Given the description of an element on the screen output the (x, y) to click on. 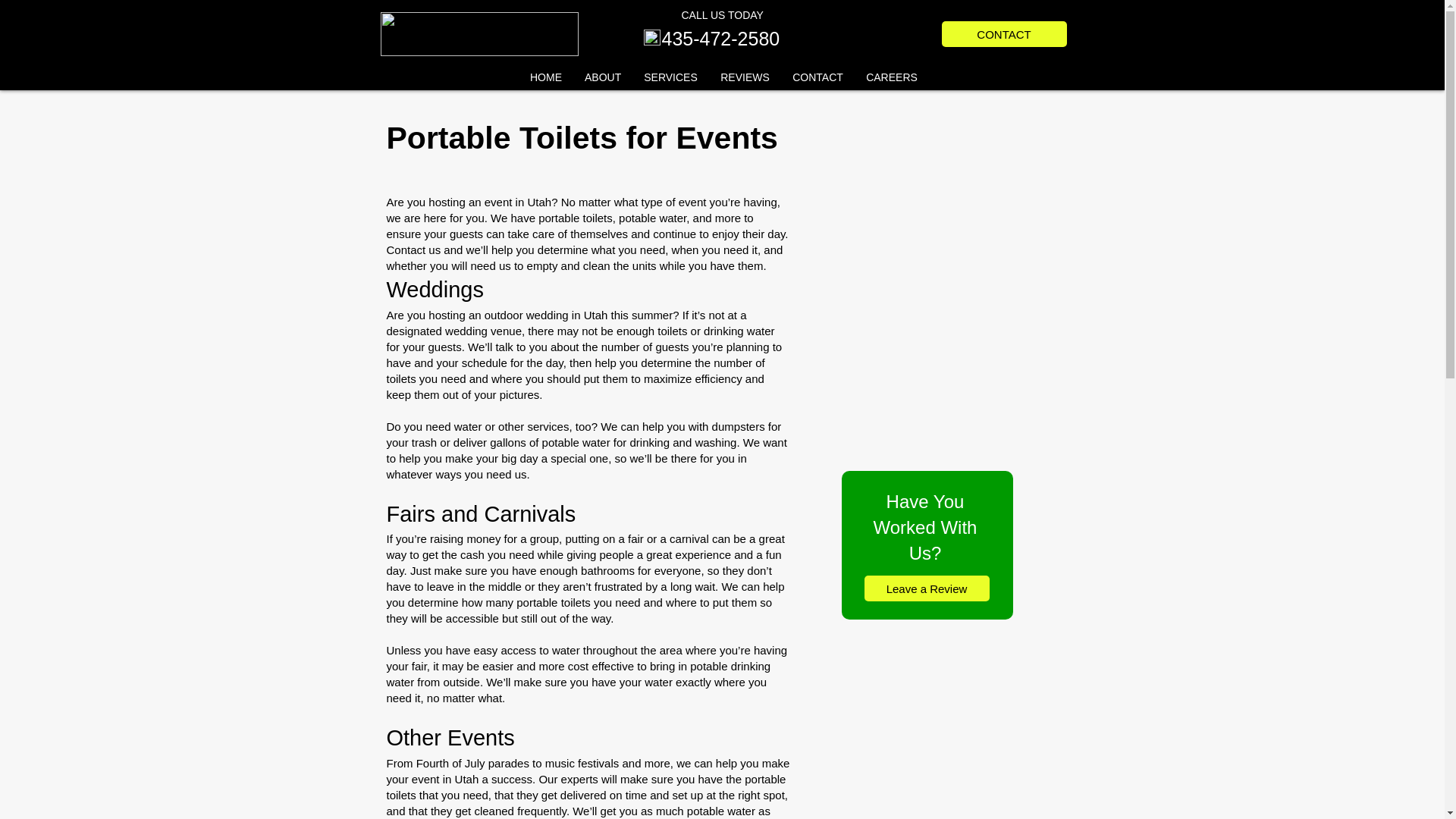
435-472-2580 (719, 38)
CONTACT (1004, 33)
CAREERS (891, 77)
REVIEWS (744, 77)
HOME (545, 77)
CONTACT (817, 77)
Leave a Review (927, 588)
